Given the description of an element on the screen output the (x, y) to click on. 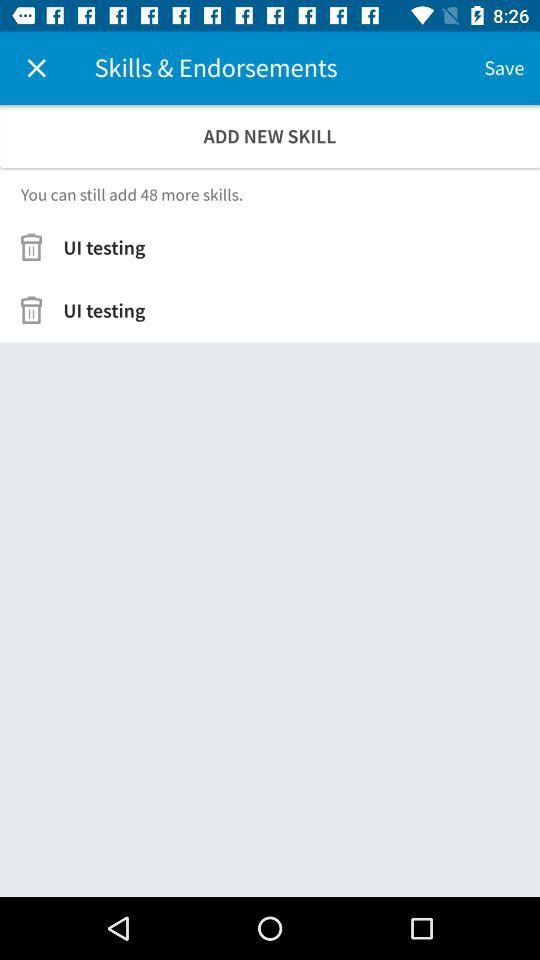
turn off the icon above add new skill icon (504, 67)
